Given the description of an element on the screen output the (x, y) to click on. 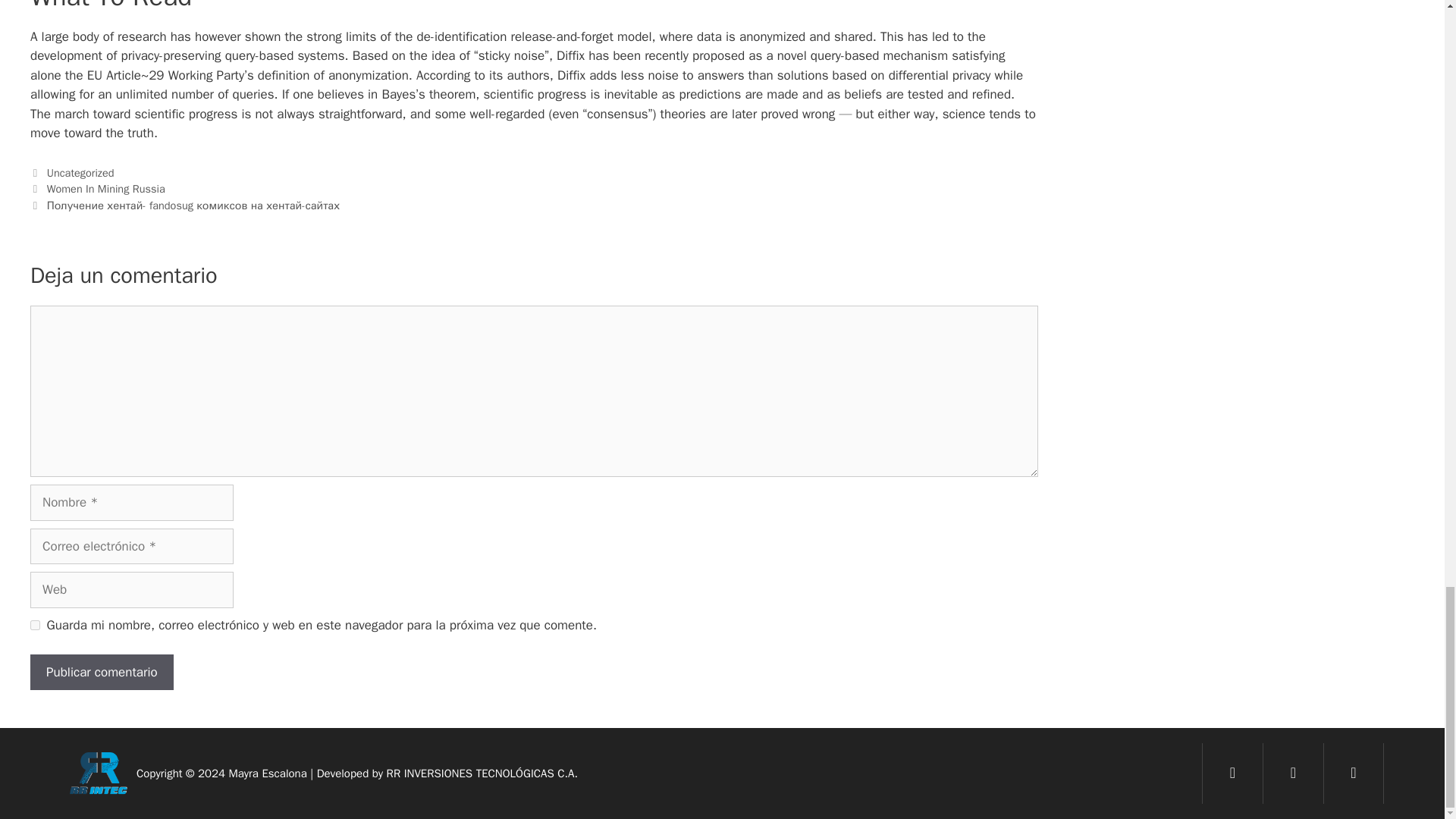
Anterior (97, 188)
Publicar comentario (101, 672)
Women In Mining Russia (105, 188)
Siguiente (184, 205)
Publicar comentario (101, 672)
yes (35, 624)
Uncategorized (80, 172)
